Given the description of an element on the screen output the (x, y) to click on. 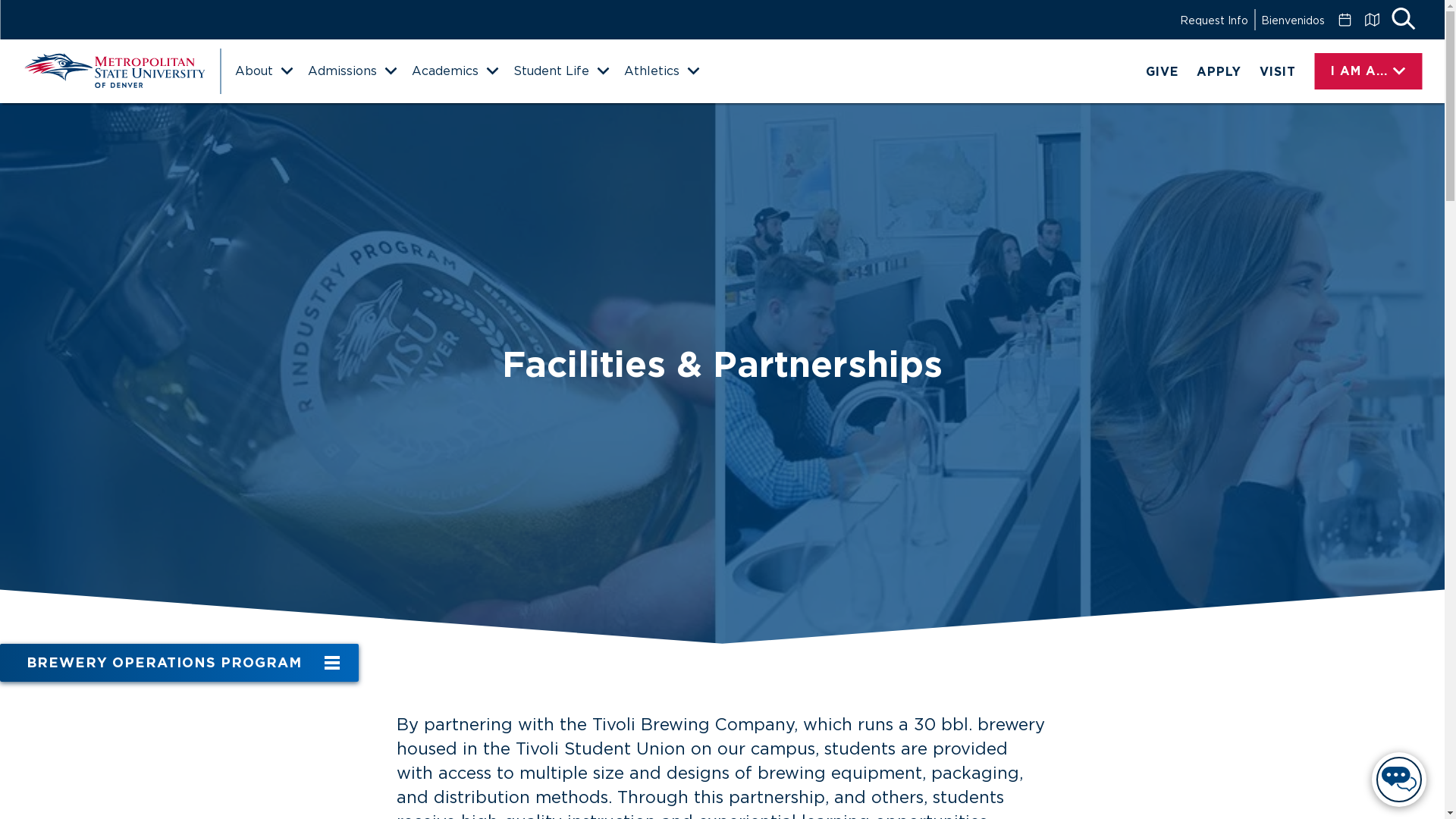
Map (1371, 19)
Calendar (1344, 19)
Bienvenidos (1292, 20)
MSU Denver (114, 70)
About (263, 71)
Request Info (1213, 20)
Search (1403, 19)
